Given the description of an element on the screen output the (x, y) to click on. 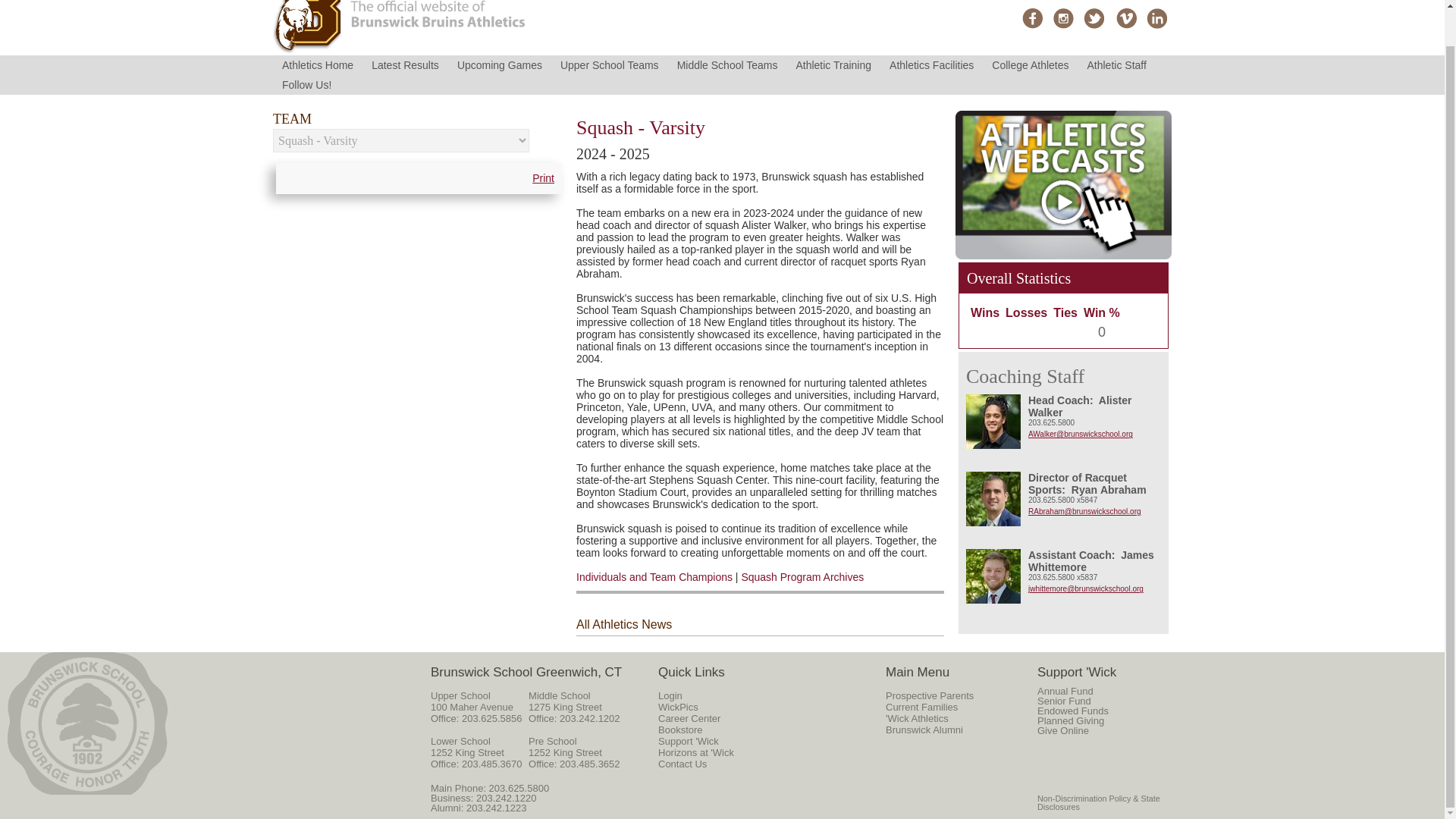
Athletics Home (317, 65)
Athletics Facilities (931, 65)
Athletic Training (833, 65)
Upcoming Games (499, 65)
Follow Us! (306, 85)
Print (543, 178)
All Athletics News (623, 624)
Latest Results (405, 65)
College Athletes (1029, 65)
Individuals and Team Champions (654, 576)
